Given the description of an element on the screen output the (x, y) to click on. 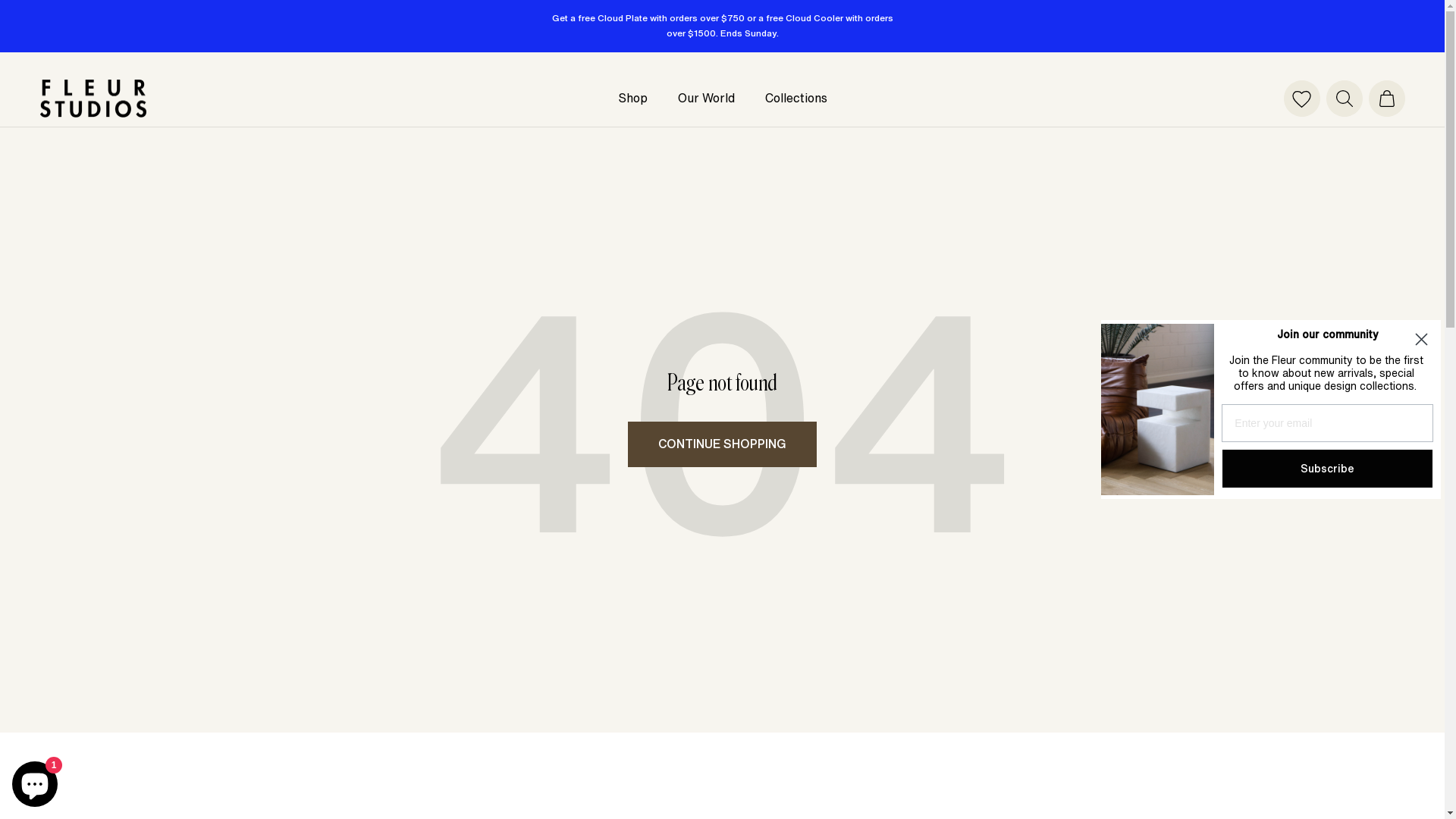
Open cart
0 Element type: text (1386, 98)
Open search Element type: text (1343, 98)
Fleur Studios Element type: text (92, 98)
Submit Element type: text (20, 7)
CONTINUE SHOPPING Element type: text (721, 444)
Close dialog 4 Element type: text (1421, 339)
Wishlist Element type: text (1301, 98)
Subscribe Element type: text (1327, 468)
Shopify online store chat Element type: hover (34, 780)
